Given the description of an element on the screen output the (x, y) to click on. 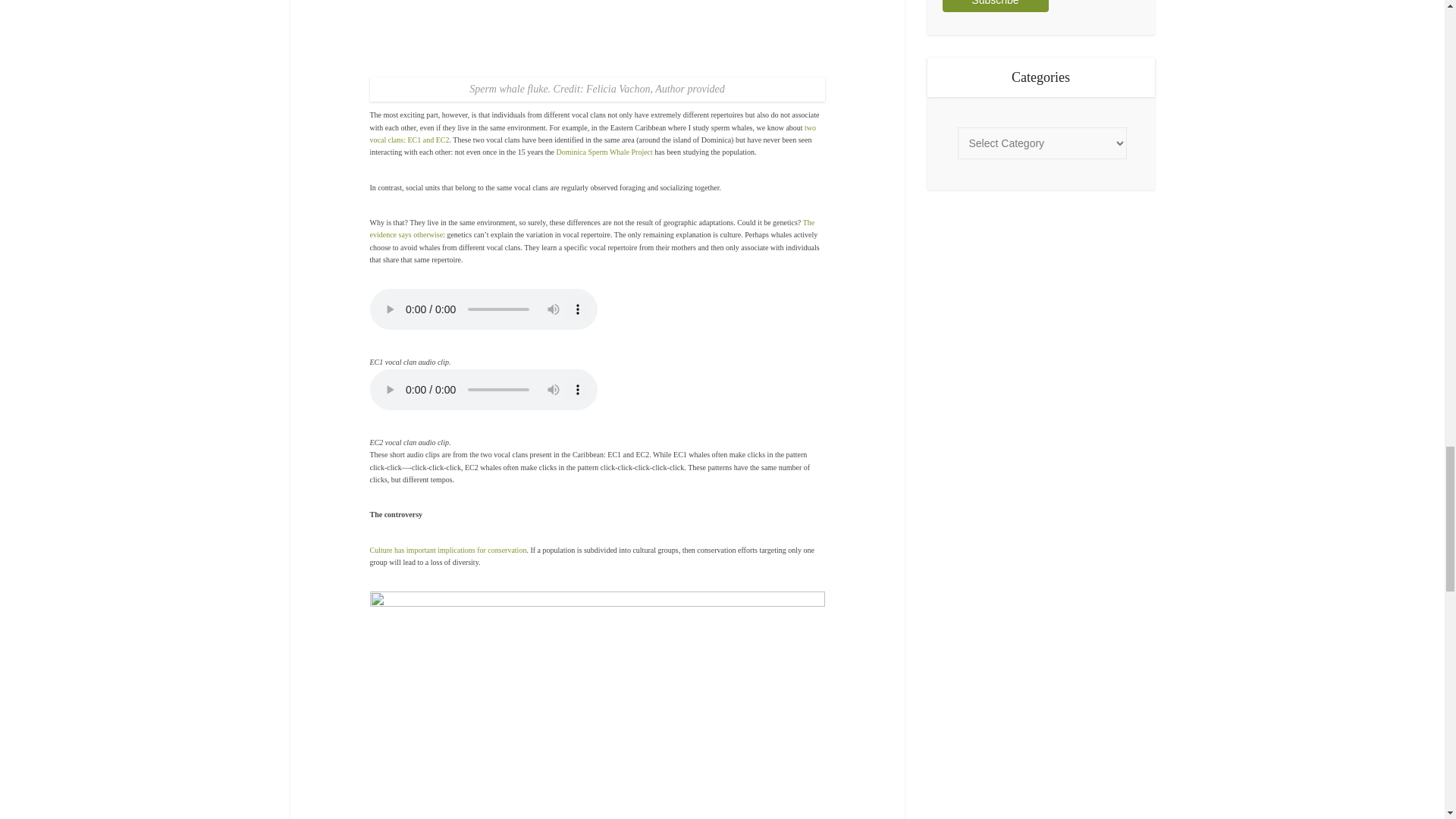
Subscribe (995, 6)
two vocal clans: EC1 and EC2 (592, 133)
Dominica Sperm Whale Project (604, 152)
The evidence says otherwise (592, 228)
Culture has important implications for conservation (448, 550)
